Given the description of an element on the screen output the (x, y) to click on. 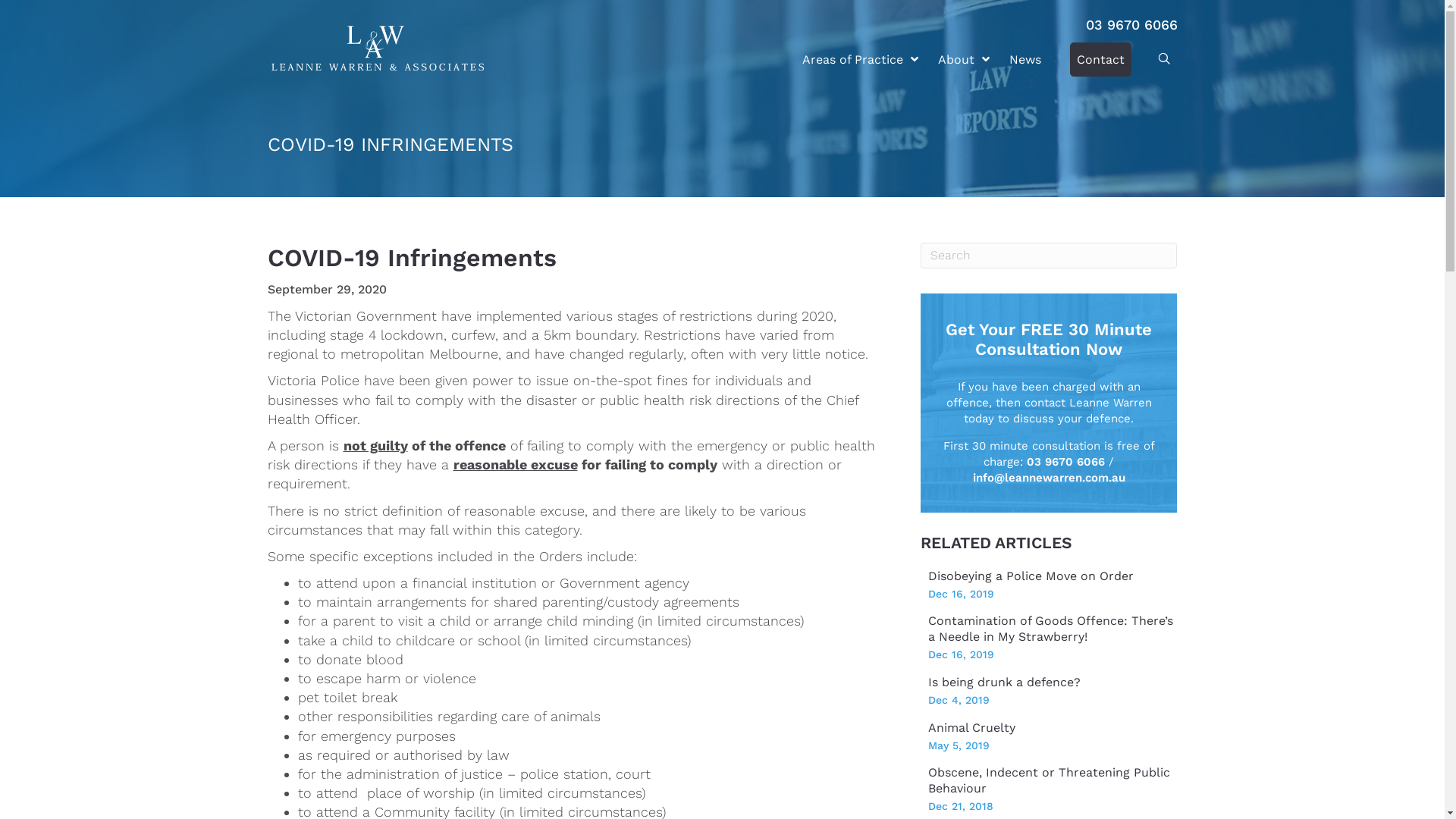
Obscene, Indecent or Threatening Public Behaviour Element type: text (1049, 780)
Disobeying a Police Move on Order Element type: text (1030, 575)
03 9670 6066 Element type: text (1131, 24)
Logo-white3 Element type: hover (377, 47)
About Element type: text (962, 59)
Type and press Enter to search. Element type: hover (1048, 255)
info@leannewarren.com.au Element type: text (1048, 477)
News Element type: text (1024, 59)
03 9670 6066 Element type: text (1065, 461)
Animal Cruelty Element type: text (971, 727)
Areas of Practice Element type: text (860, 59)
Contact Element type: text (1099, 59)
Is being drunk a defence? Element type: text (1004, 681)
